Given the description of an element on the screen output the (x, y) to click on. 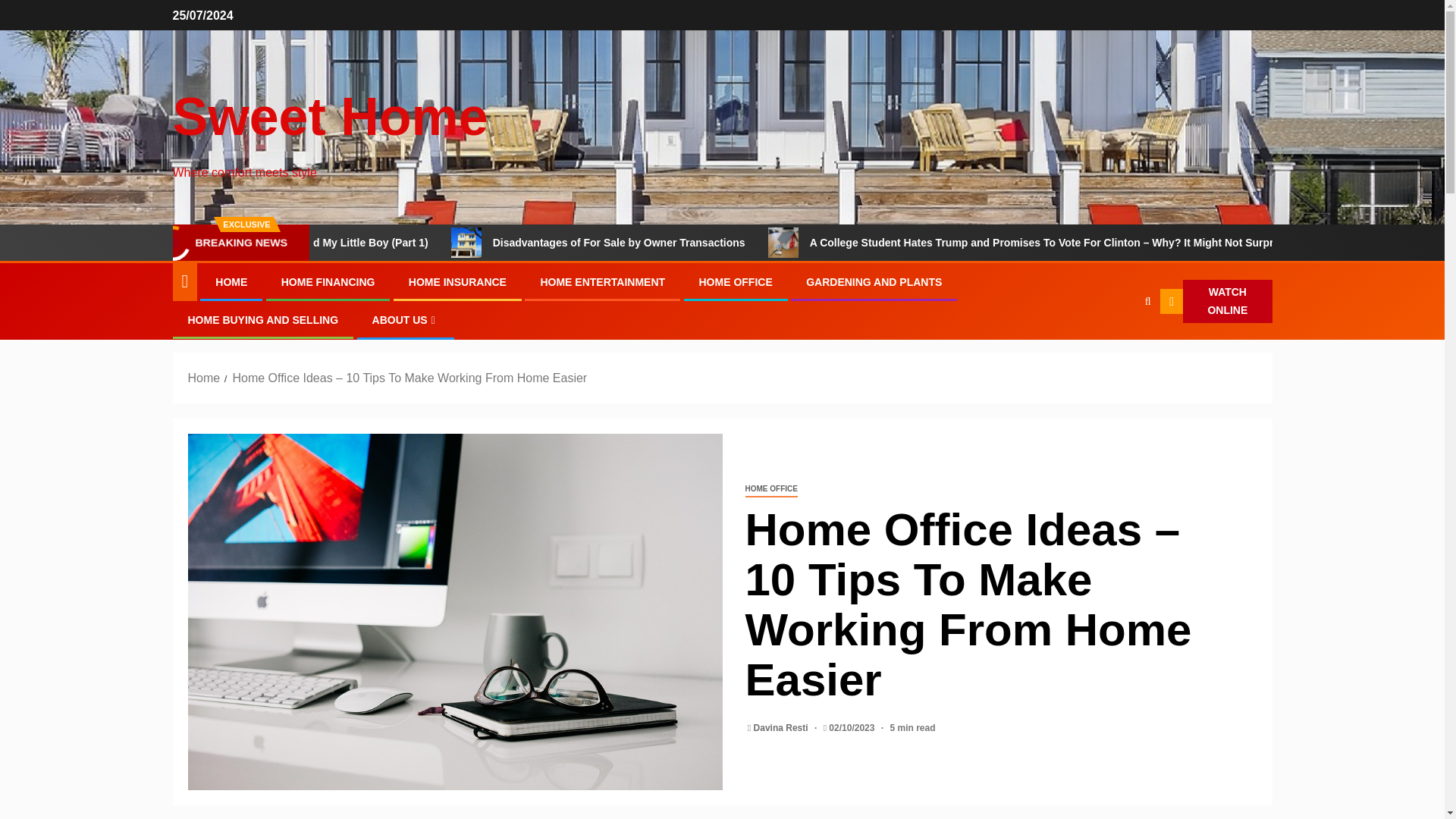
HOME ENTERTAINMENT (602, 282)
GARDENING AND PLANTS (874, 282)
Disadvantages of For Sale by Owner Transactions (534, 242)
HOME FINANCING (328, 282)
Home (204, 377)
HOME OFFICE (735, 282)
HOME OFFICE (770, 489)
ABOUT US (405, 319)
Sweet Home (330, 116)
HOME INSURANCE (457, 282)
HOME BUYING AND SELLING (263, 319)
Search (1117, 347)
WATCH ONLINE (1215, 301)
Davina Resti (782, 727)
Disadvantages of For Sale by Owner Transactions (714, 242)
